Given the description of an element on the screen output the (x, y) to click on. 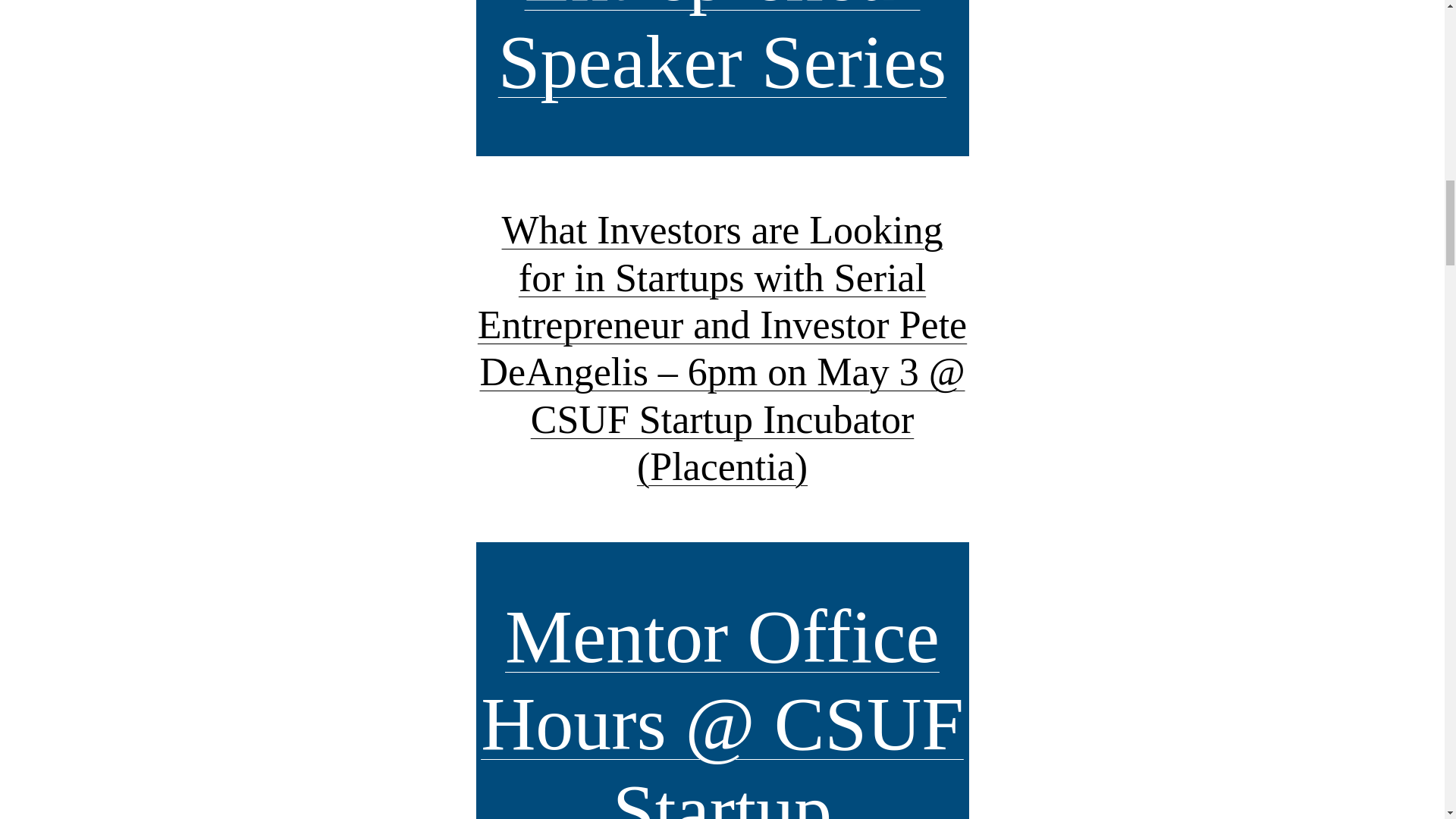
CSUF Entrepreneur Speaker Series (721, 52)
